Given the description of an element on the screen output the (x, y) to click on. 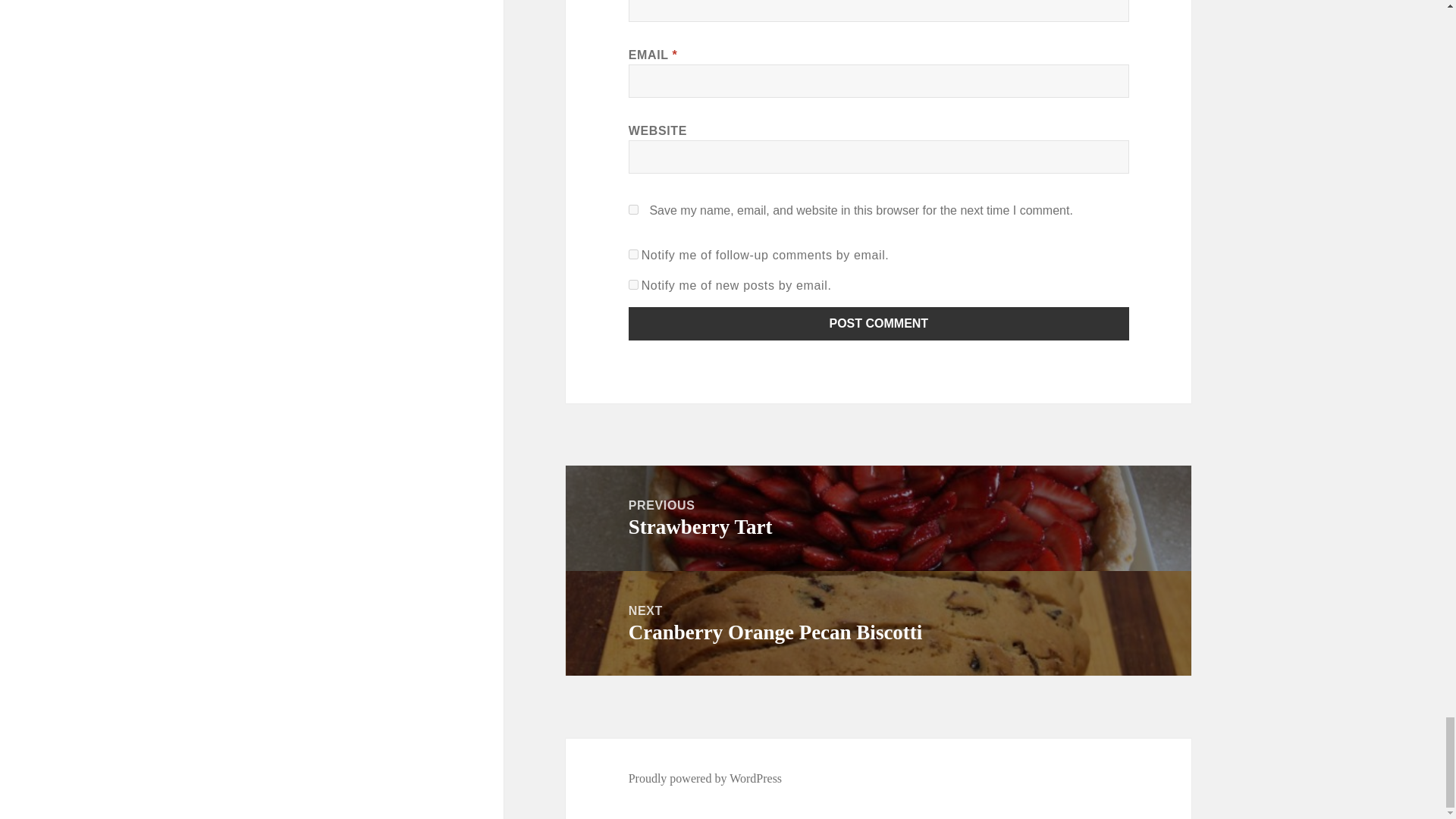
yes (633, 209)
Post Comment (878, 323)
subscribe (633, 254)
subscribe (633, 284)
